Given the description of an element on the screen output the (x, y) to click on. 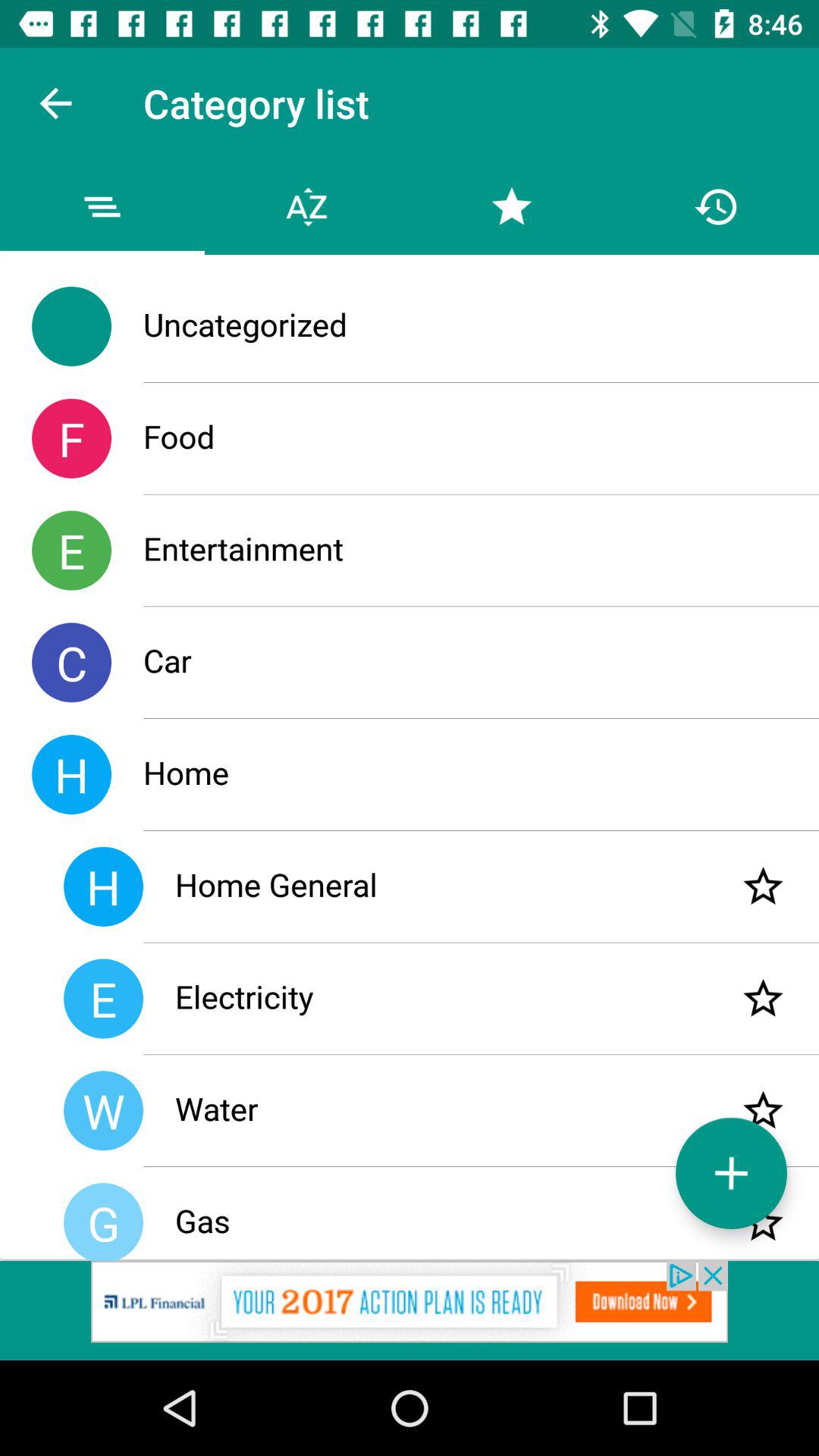
click on the advertisement (409, 1310)
